Given the description of an element on the screen output the (x, y) to click on. 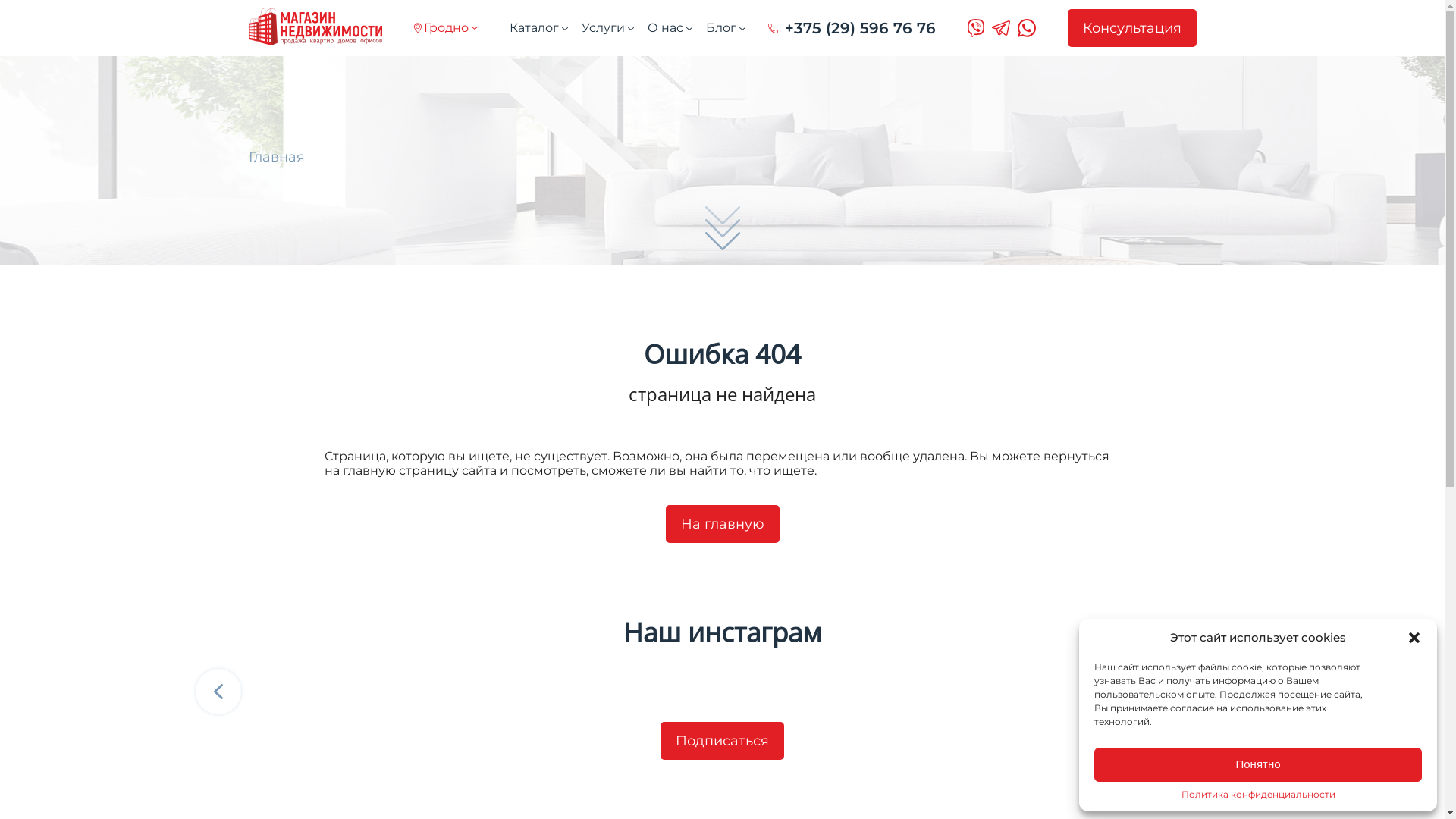
+375 (29) 596 76 76 Element type: text (851, 27)
